Given the description of an element on the screen output the (x, y) to click on. 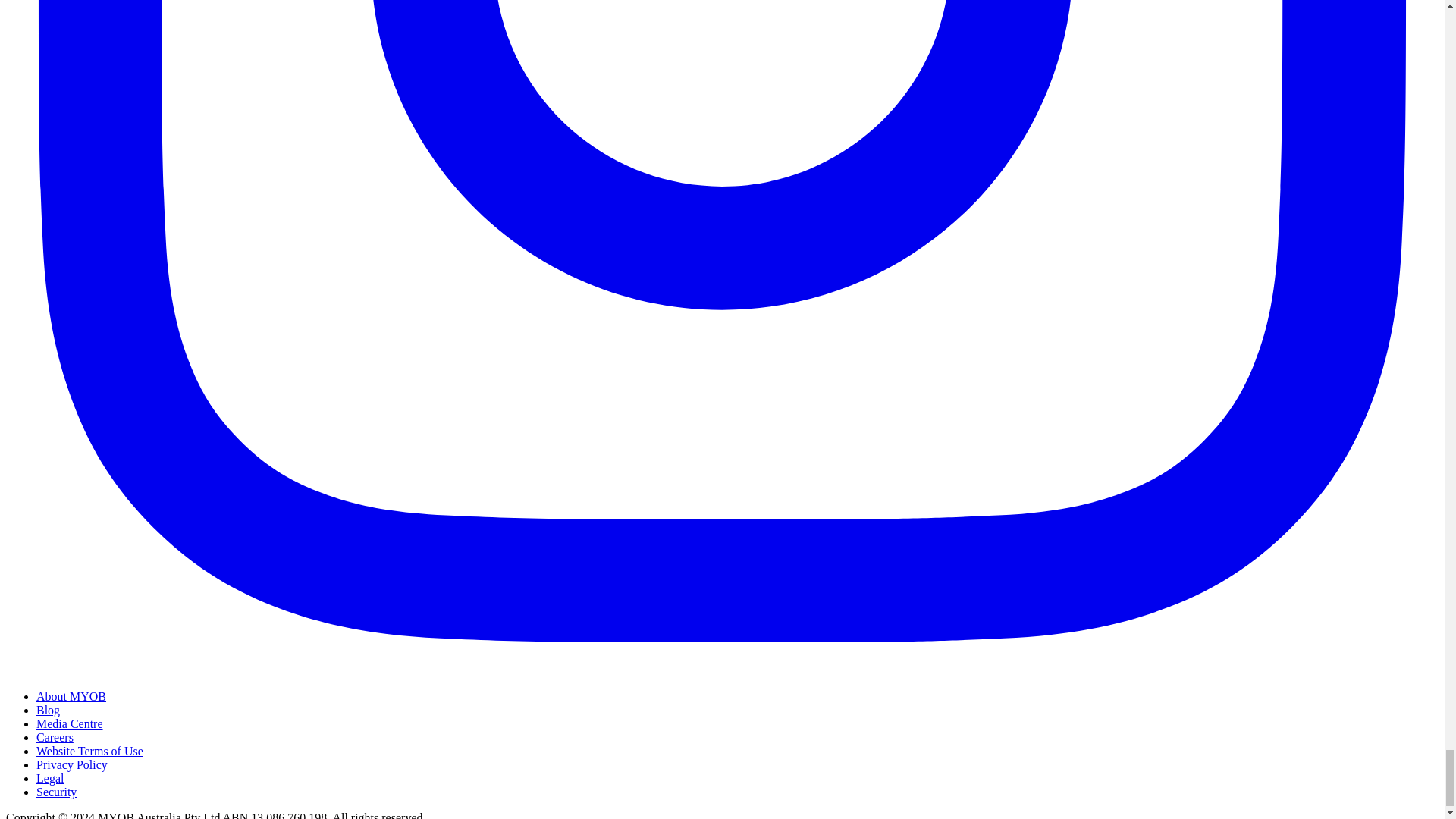
Blog (47, 709)
Careers (55, 737)
Privacy Policy (71, 764)
Website Terms of Use (89, 750)
Security (56, 791)
Legal (50, 778)
Media Centre (69, 723)
About MYOB (71, 696)
